Given the description of an element on the screen output the (x, y) to click on. 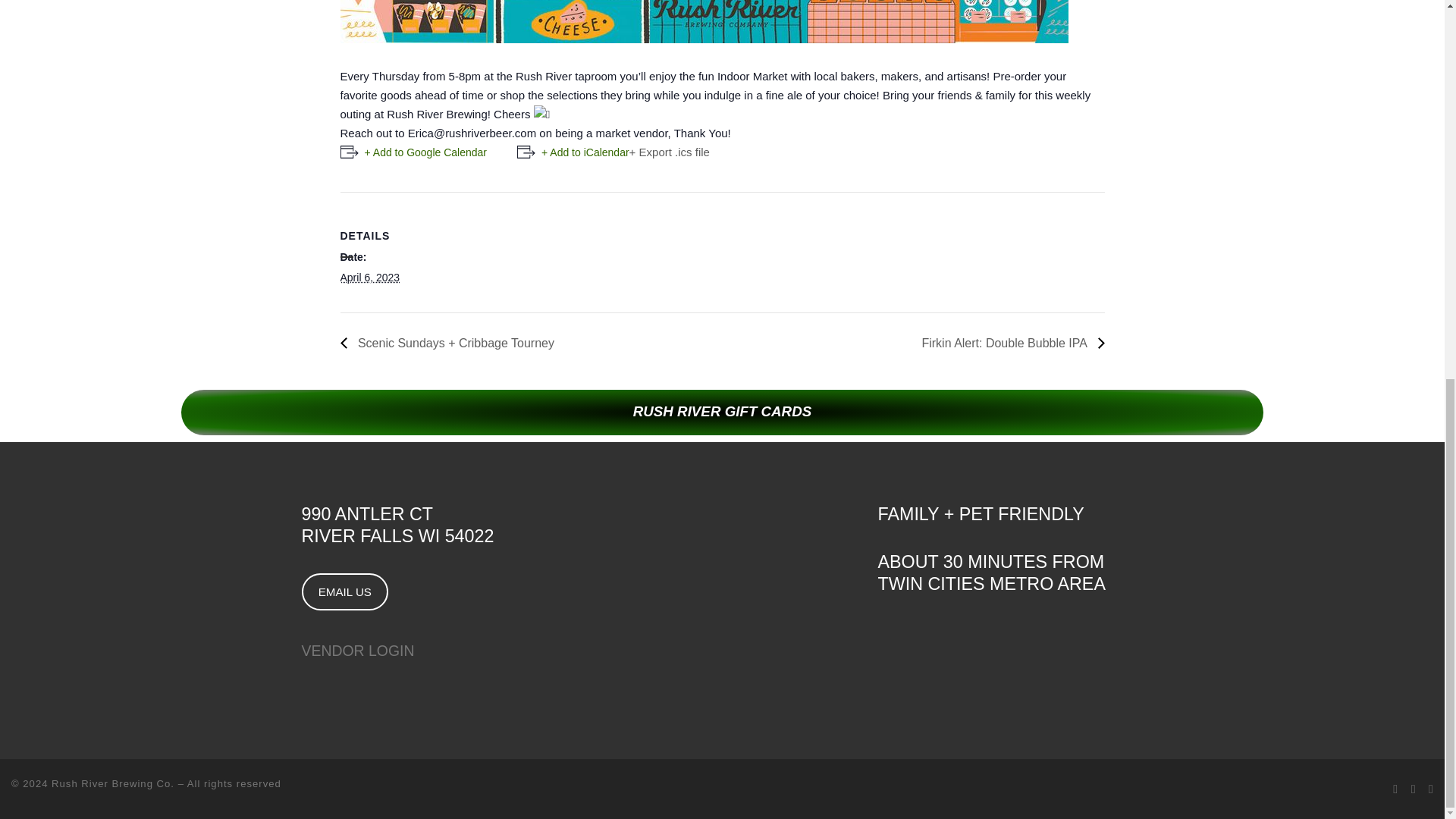
Firkin Alert: Double Bubble IPA (1007, 342)
2023-04-06 (368, 277)
VENDOR LOGIN (357, 650)
RUSH RIVER GIFT CARDS (721, 411)
Export .ics file (669, 151)
Add to iCalendar (572, 152)
EMAIL US (344, 591)
Rush River Brewing Co. (112, 783)
Rush River Brewing Co. (112, 783)
Add to Google Calendar (412, 152)
